Given the description of an element on the screen output the (x, y) to click on. 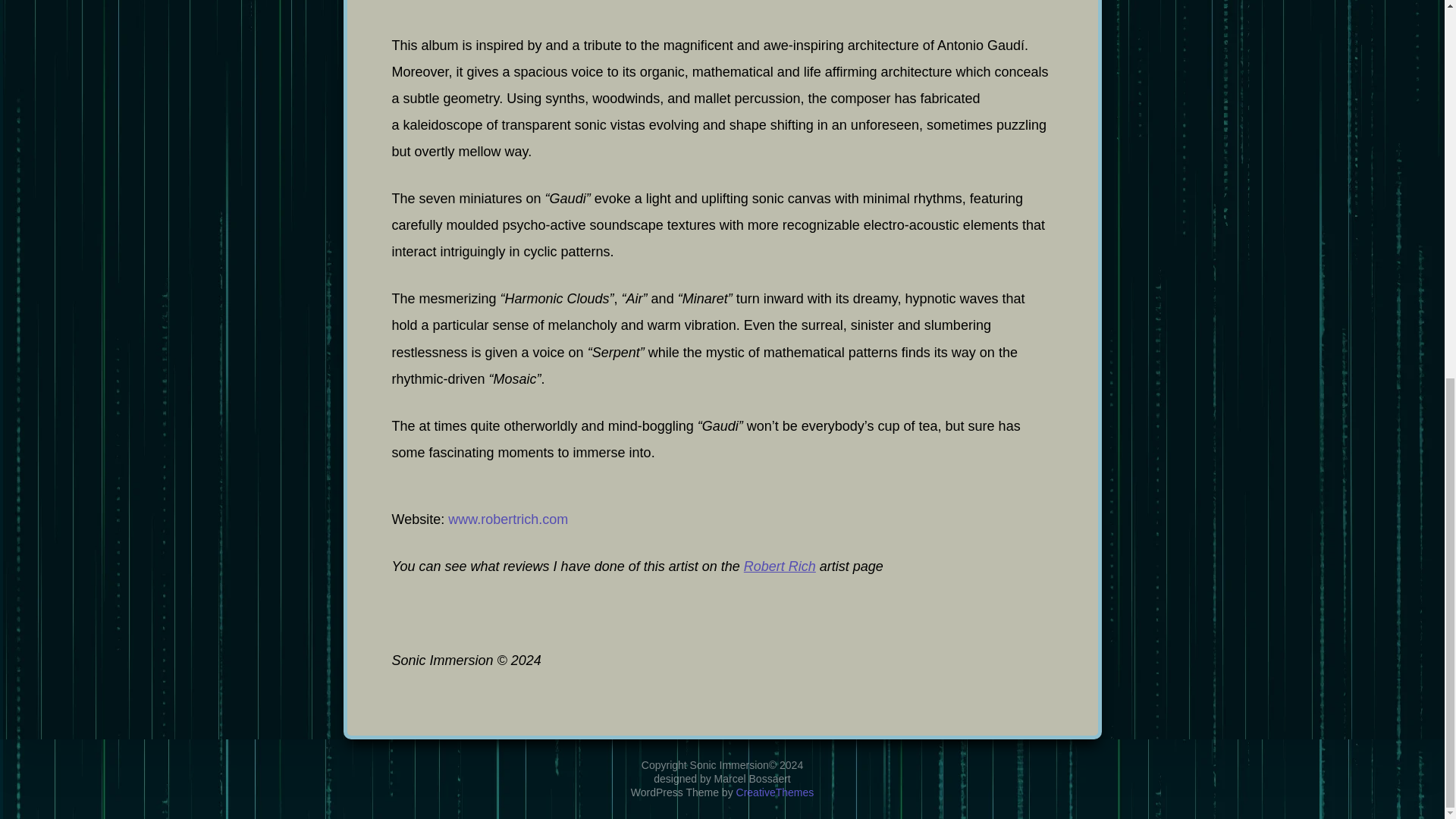
CreativeThemes (774, 93)
Robert Rich (779, 566)
www.robertrich.com (507, 519)
